Given the description of an element on the screen output the (x, y) to click on. 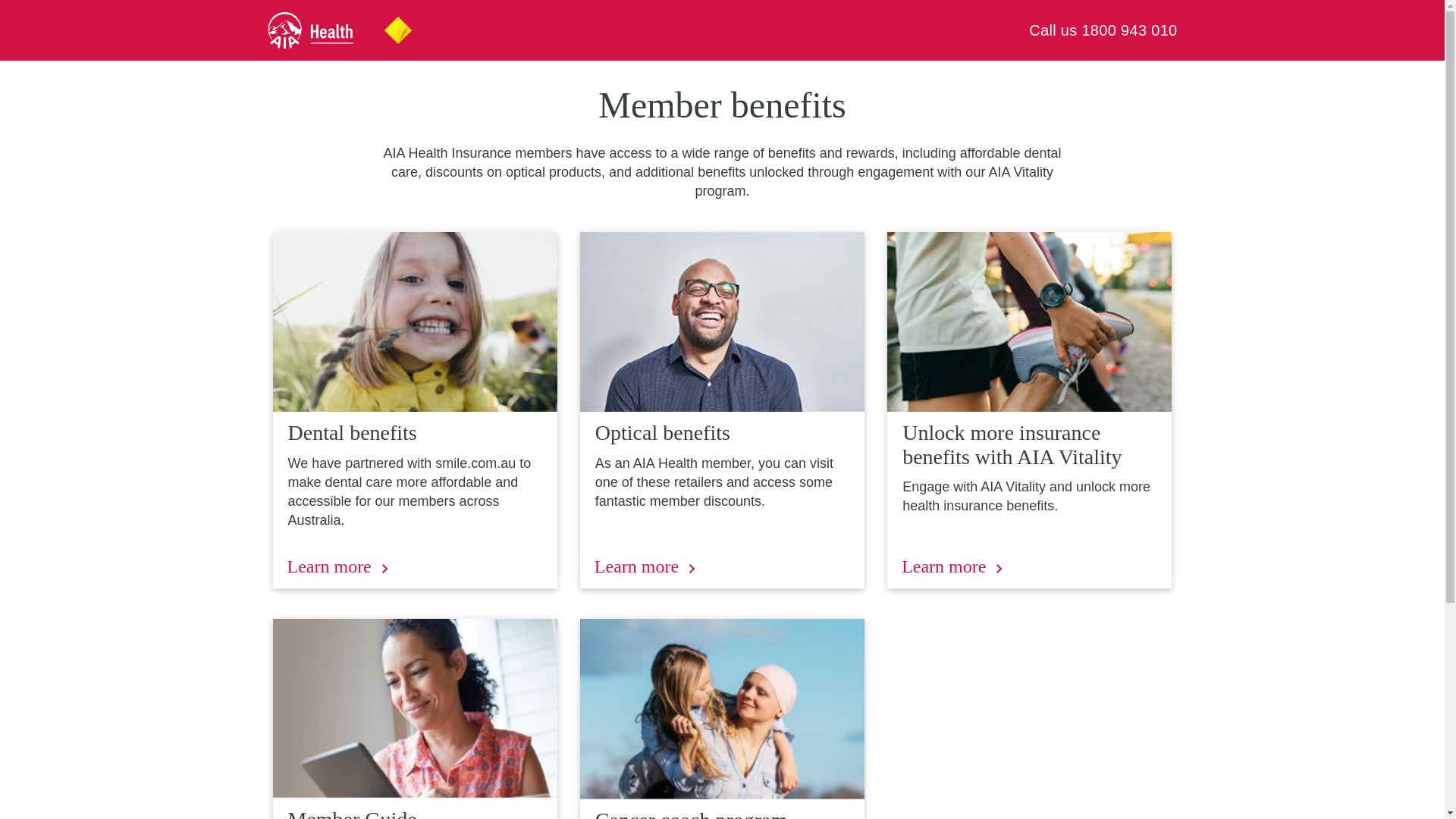
Call us 1800 943 010 (1102, 29)
Learn more (952, 566)
Learn more (336, 566)
Learn more (644, 566)
